Given the description of an element on the screen output the (x, y) to click on. 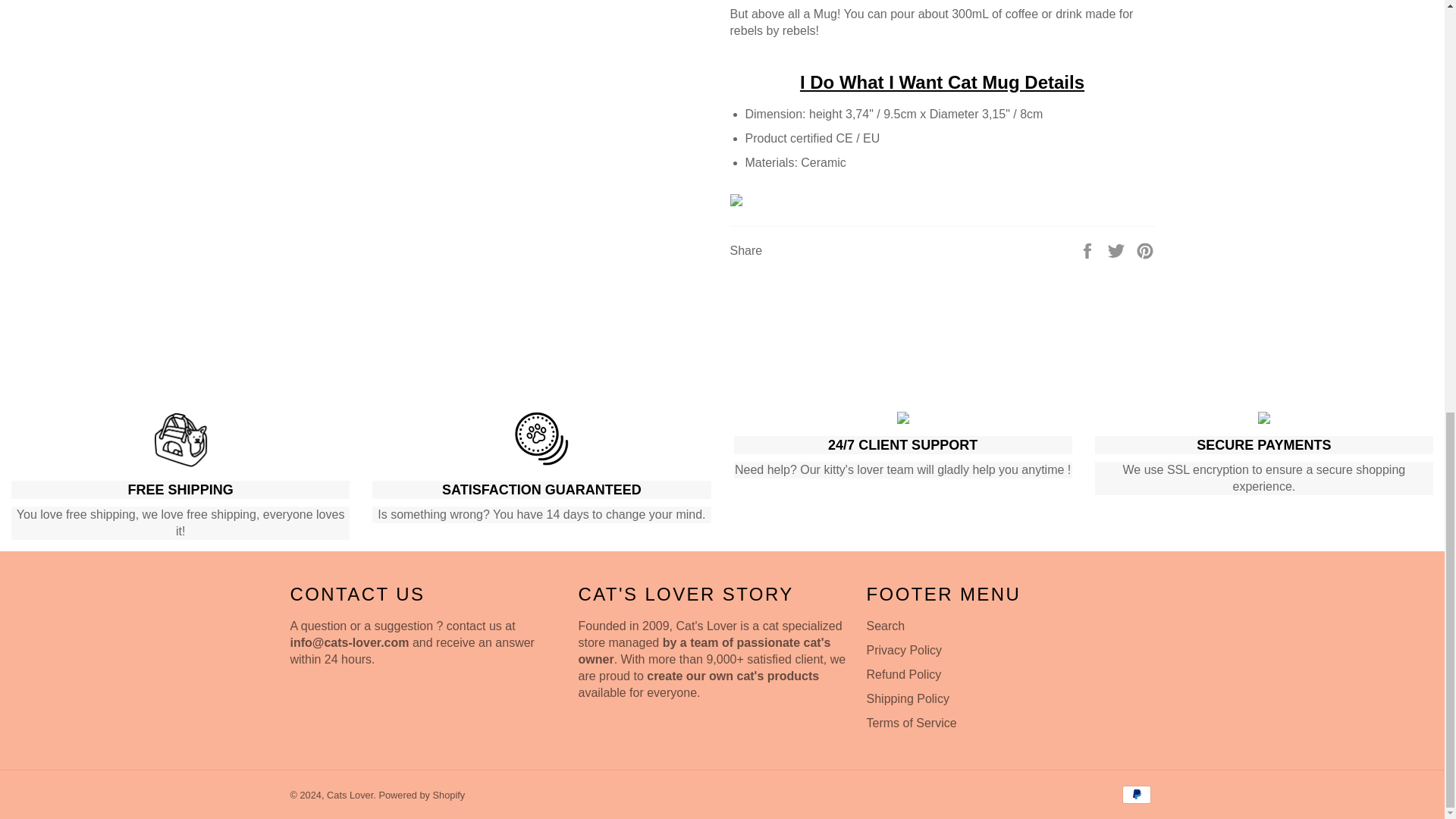
Pin on Pinterest (1144, 249)
Tweet on Twitter (1117, 249)
Share on Facebook (1088, 249)
